Given the description of an element on the screen output the (x, y) to click on. 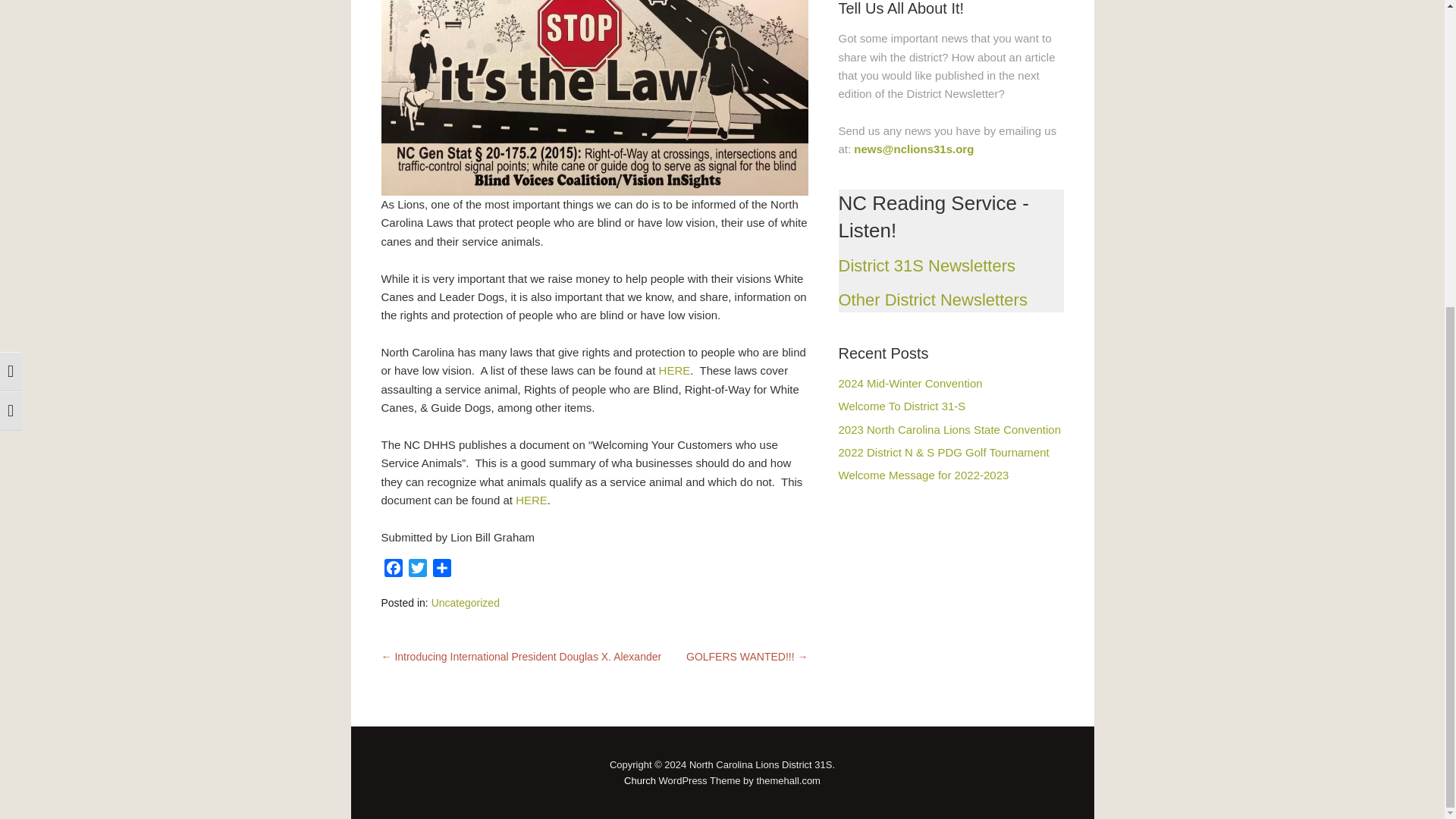
Facebook (392, 570)
HERE (531, 499)
Uncategorized (464, 603)
HERE (674, 369)
District 31S Newsletters (927, 265)
Twitter (416, 570)
Share (440, 570)
Other District Newsletters (932, 299)
